Given the description of an element on the screen output the (x, y) to click on. 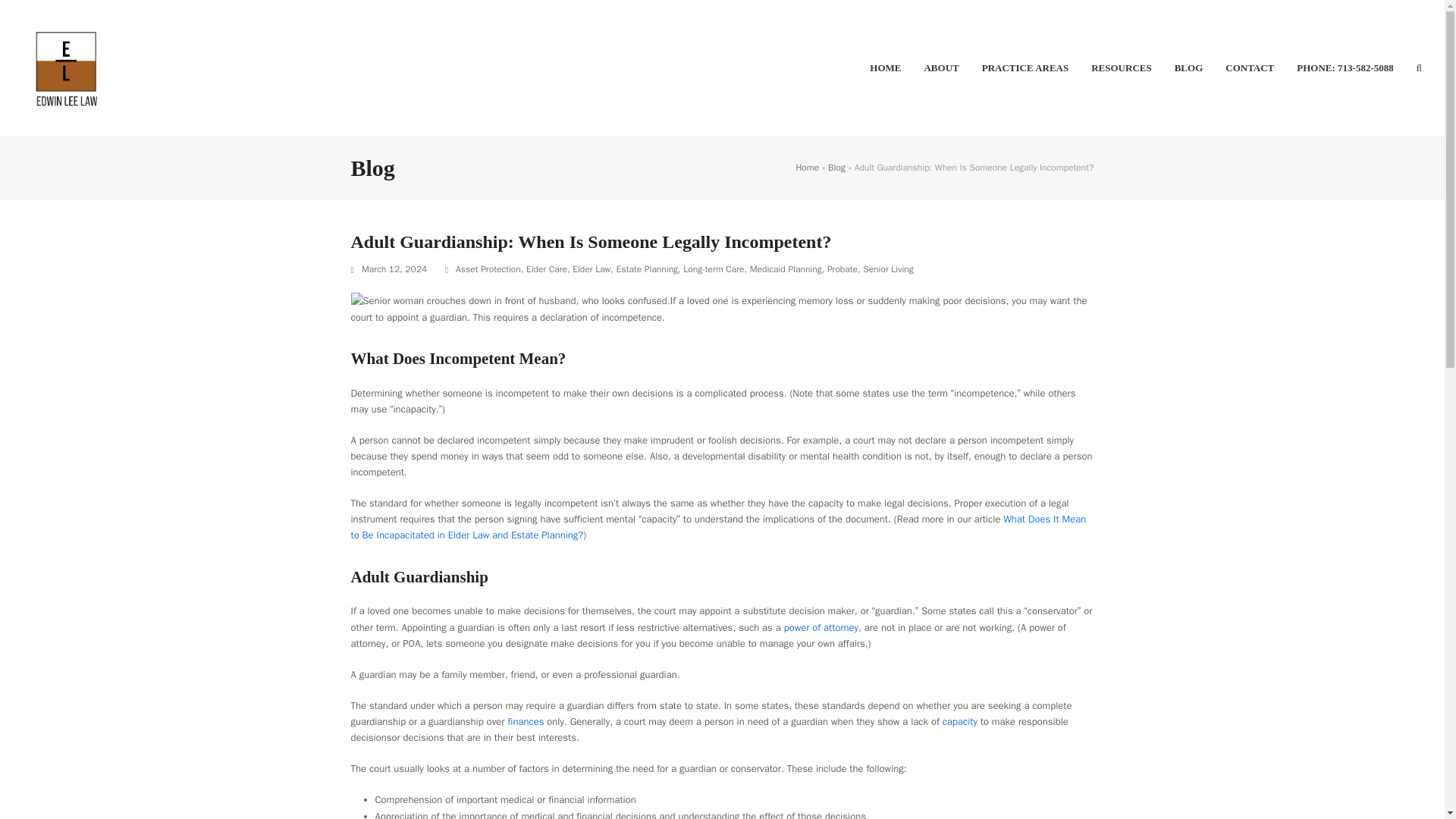
Asset Protection (488, 268)
HOME (885, 67)
capacity (959, 721)
Medicaid Planning (785, 268)
power of attorney (821, 626)
Long-term Care (713, 268)
ABOUT (940, 67)
PHONE: 713-582-5088 (1345, 67)
CONTACT (1249, 67)
PRACTICE AREAS (1025, 67)
